Given the description of an element on the screen output the (x, y) to click on. 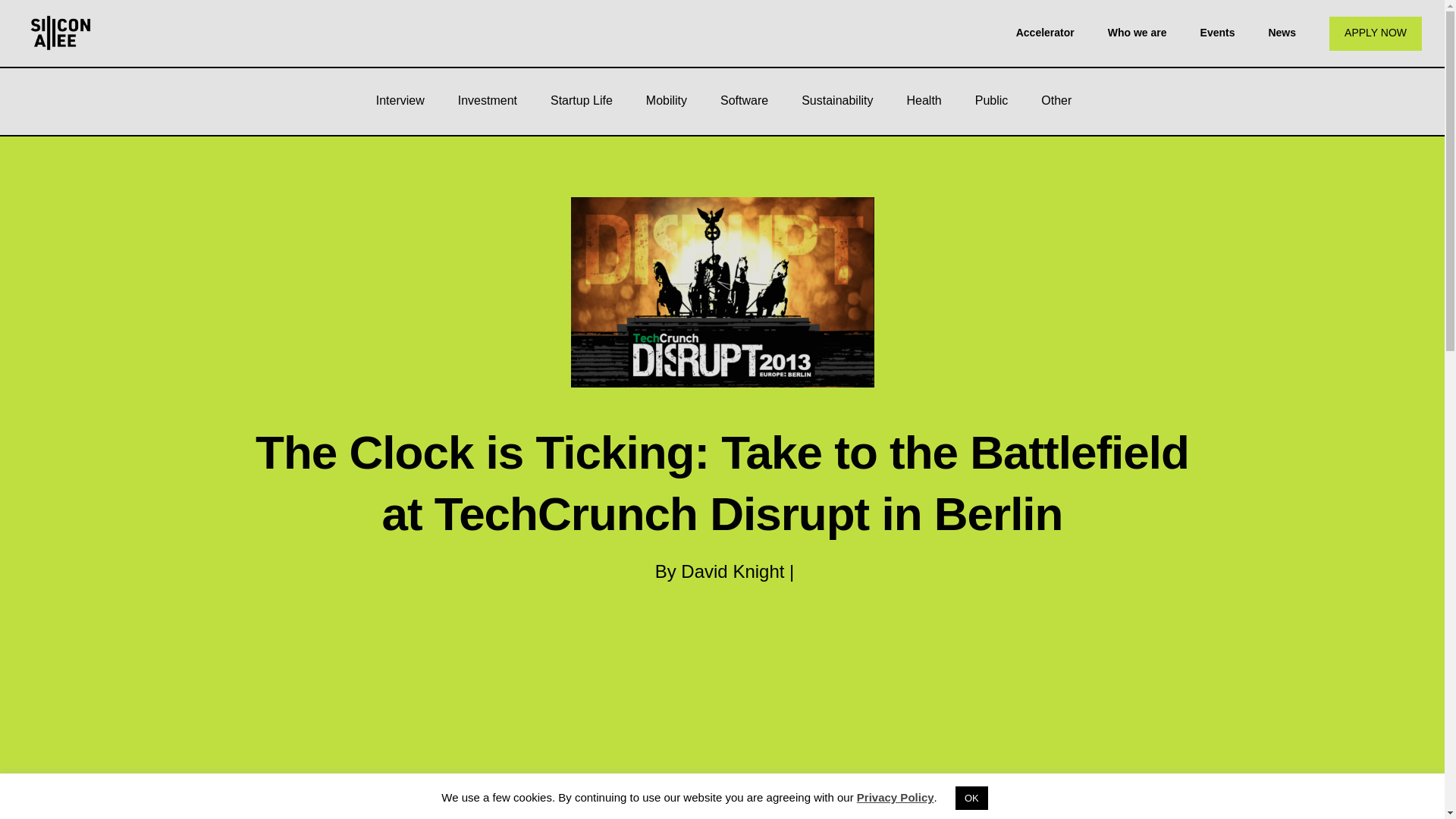
Investment (487, 100)
Interview (400, 100)
Events (1216, 31)
Public (991, 100)
Software (743, 100)
Mobility (665, 100)
Health (923, 100)
Other (1056, 100)
News (1281, 31)
APPLY NOW (1375, 33)
Sustainability (837, 100)
Startup Life (581, 100)
Accelerator (1045, 31)
Who we are (1137, 31)
